Given the description of an element on the screen output the (x, y) to click on. 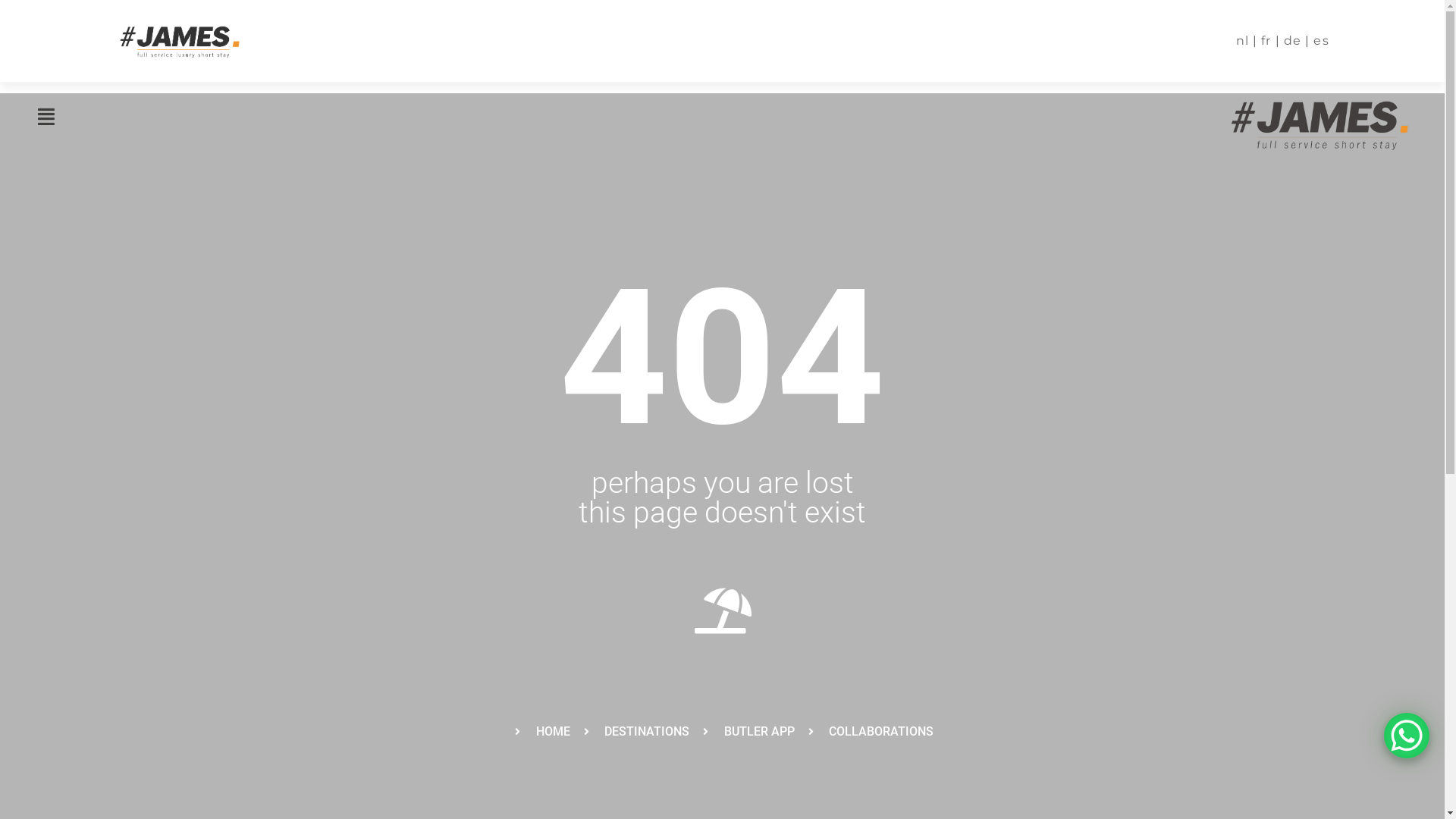
nl Element type: text (1242, 40)
es Element type: text (1320, 40)
fr Element type: text (1265, 40)
HOME Element type: text (540, 731)
BUTLER APP Element type: text (746, 731)
de Element type: text (1292, 40)
DESTINATIONS Element type: text (634, 731)
COLLABORATIONS Element type: text (868, 731)
